Given the description of an element on the screen output the (x, y) to click on. 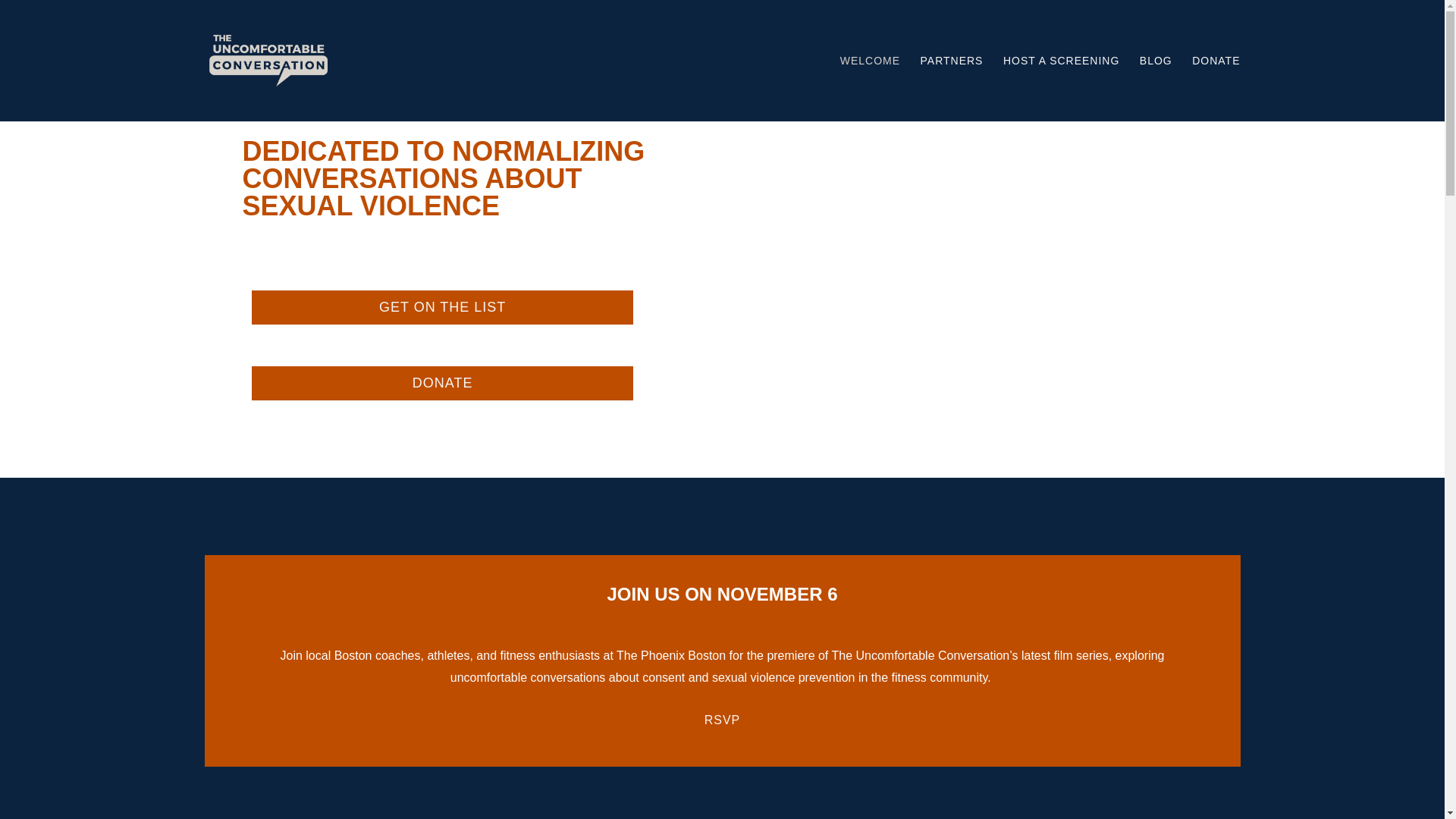
WELCOME (869, 88)
DONATE (442, 383)
HOST A SCREENING (1061, 88)
PARTNERS (952, 88)
RSVP (722, 719)
GET ON THE LIST (442, 307)
